Given the description of an element on the screen output the (x, y) to click on. 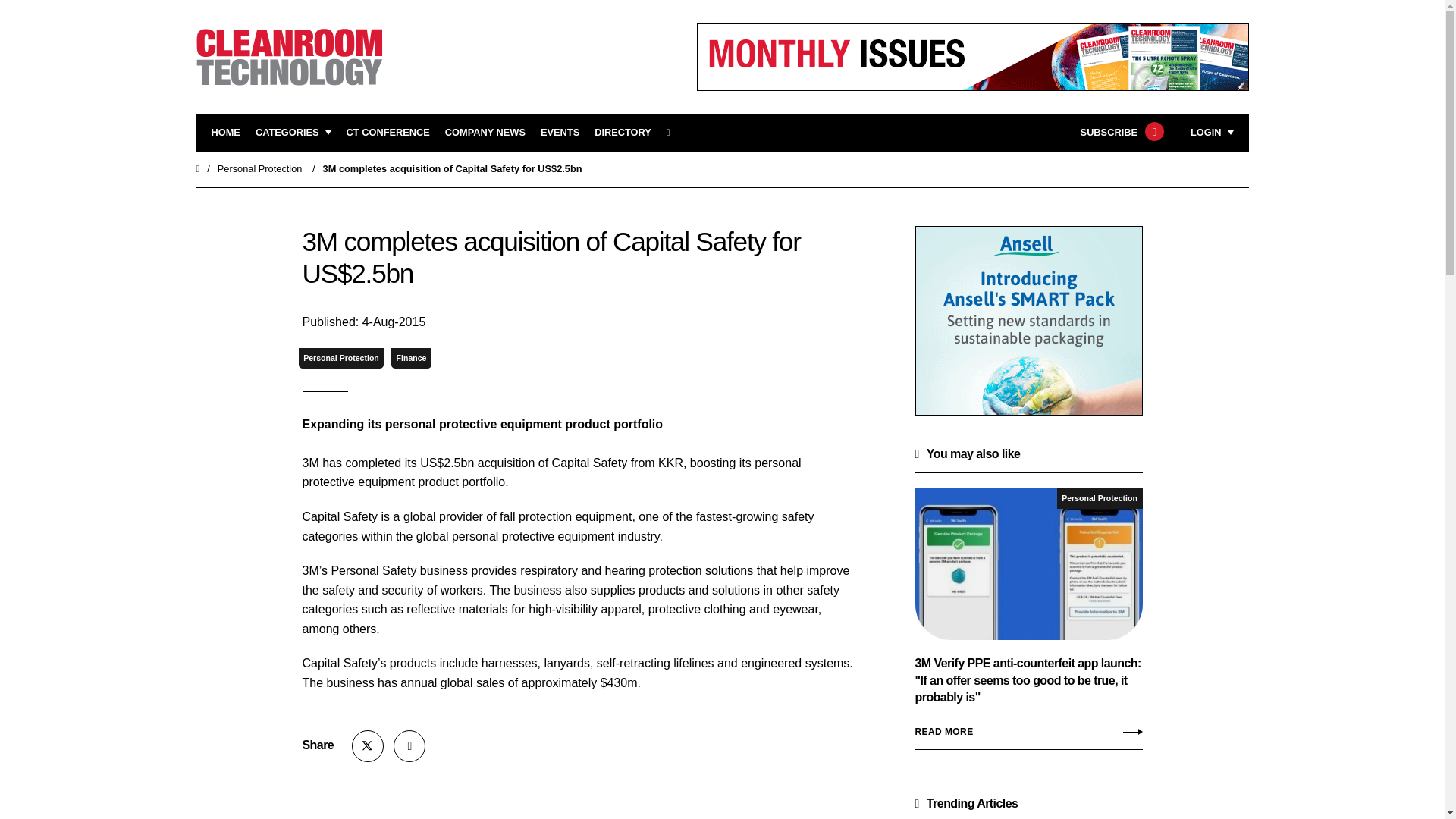
SEARCH (672, 133)
X (368, 746)
Sign In (1134, 321)
Personal Protection (341, 358)
Finance (410, 358)
Follow Cleanroom Technology on X (368, 746)
DIRECTORY (622, 133)
Cleanroom Technology (387, 133)
HOME (225, 133)
Personal Protection (259, 168)
LinkedIn (409, 746)
LOGIN (1212, 133)
COMPANY NEWS (485, 133)
Follow Cleanroom Technology on LinkedIn (409, 746)
EVENTS (559, 133)
